Given the description of an element on the screen output the (x, y) to click on. 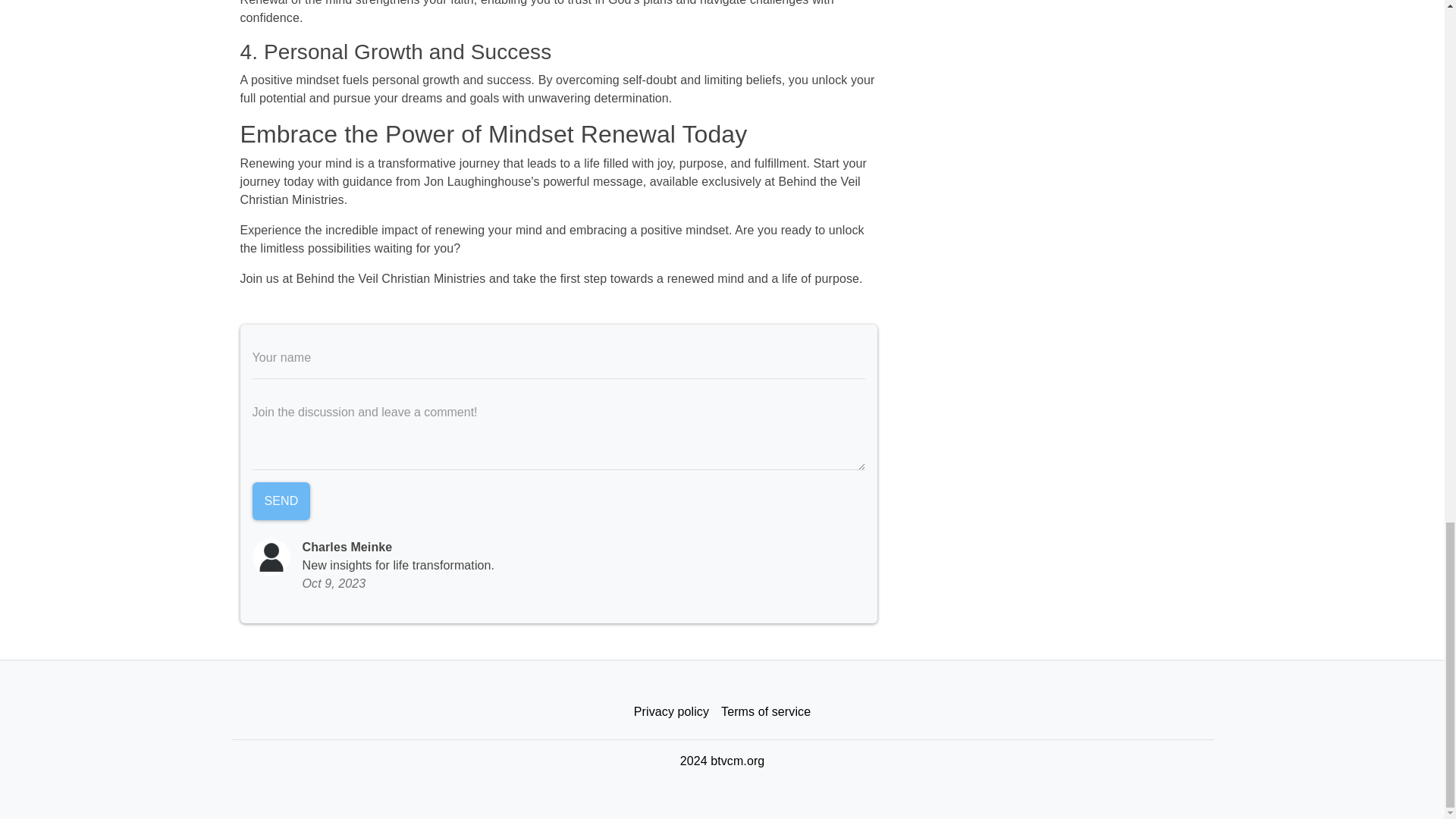
Terms of service (765, 711)
Privacy policy (670, 711)
Send (280, 501)
Send (280, 501)
